Given the description of an element on the screen output the (x, y) to click on. 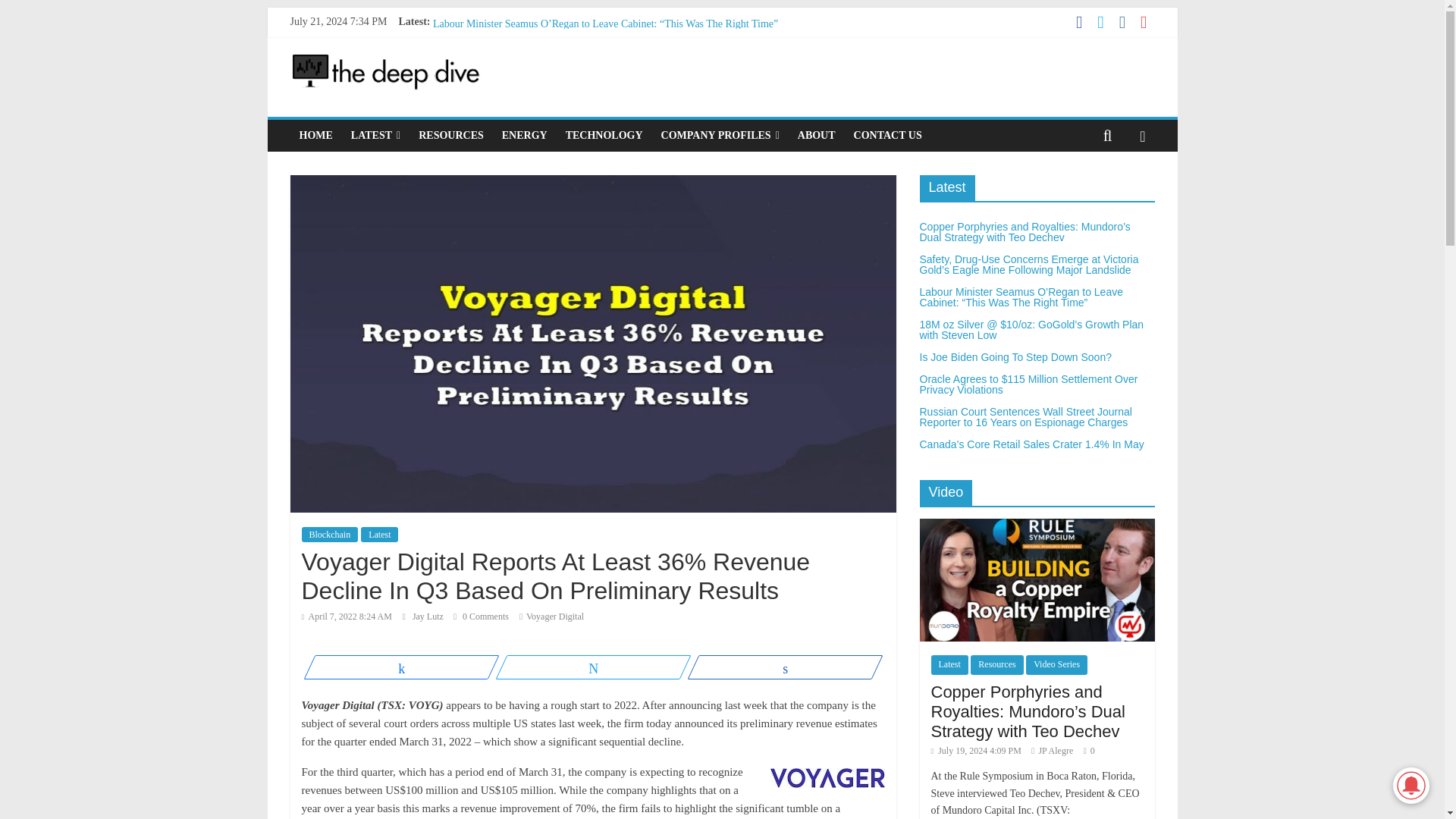
LATEST (375, 135)
HOME (314, 135)
TECHNOLOGY (604, 135)
Jay Lutz (428, 615)
ABOUT (816, 135)
8:24 am (346, 615)
Is Joe Biden Going To Step Down Soon? (519, 57)
CONTACT US (887, 135)
Is Joe Biden Going To Step Down Soon? (519, 57)
COMPANY PROFILES (720, 135)
ENERGY (524, 135)
RESOURCES (451, 135)
